Given the description of an element on the screen output the (x, y) to click on. 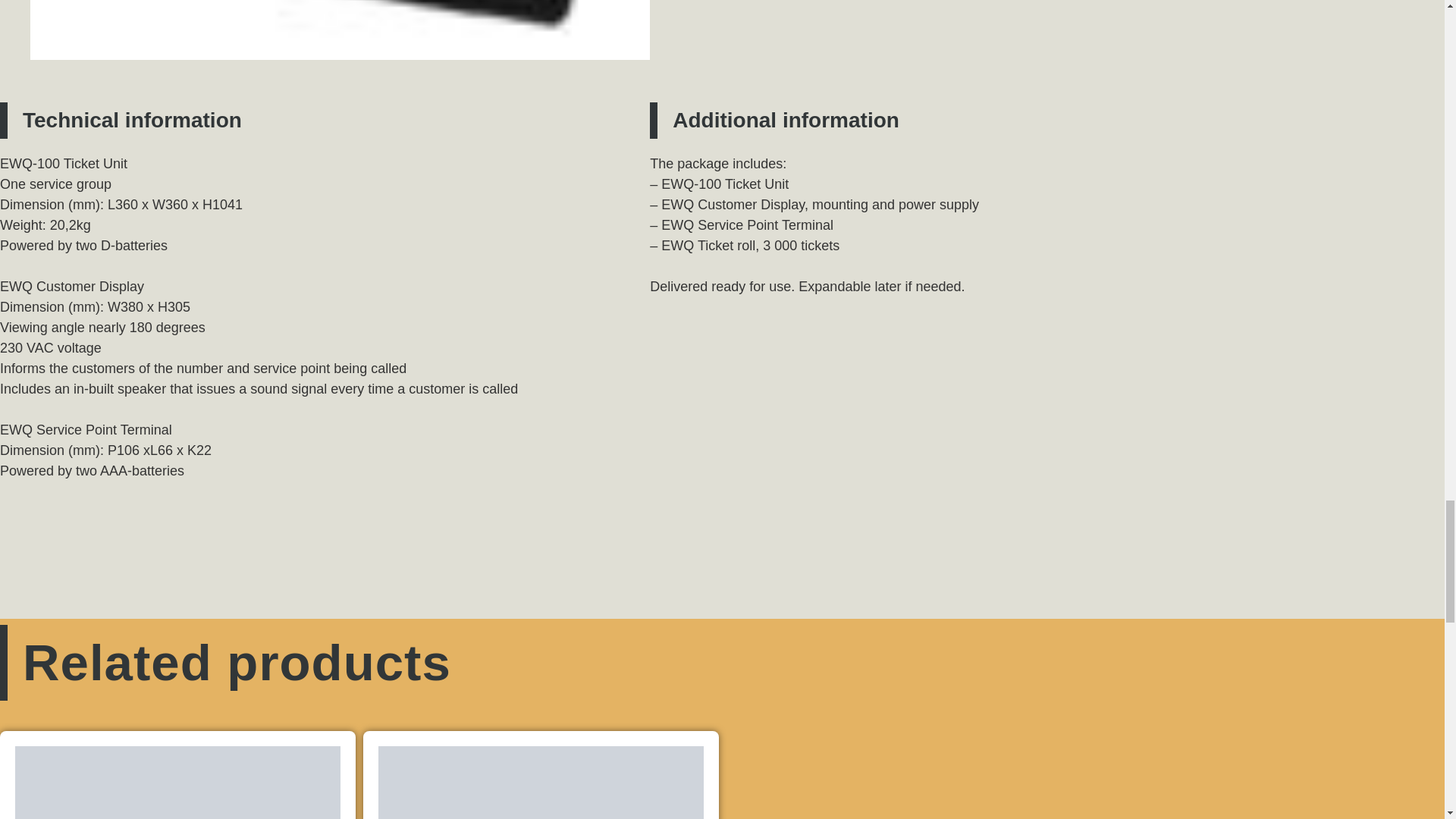
EWQ Queless Services Package 2 (177, 782)
EWQ Queless Services Package 1 (540, 782)
